Given the description of an element on the screen output the (x, y) to click on. 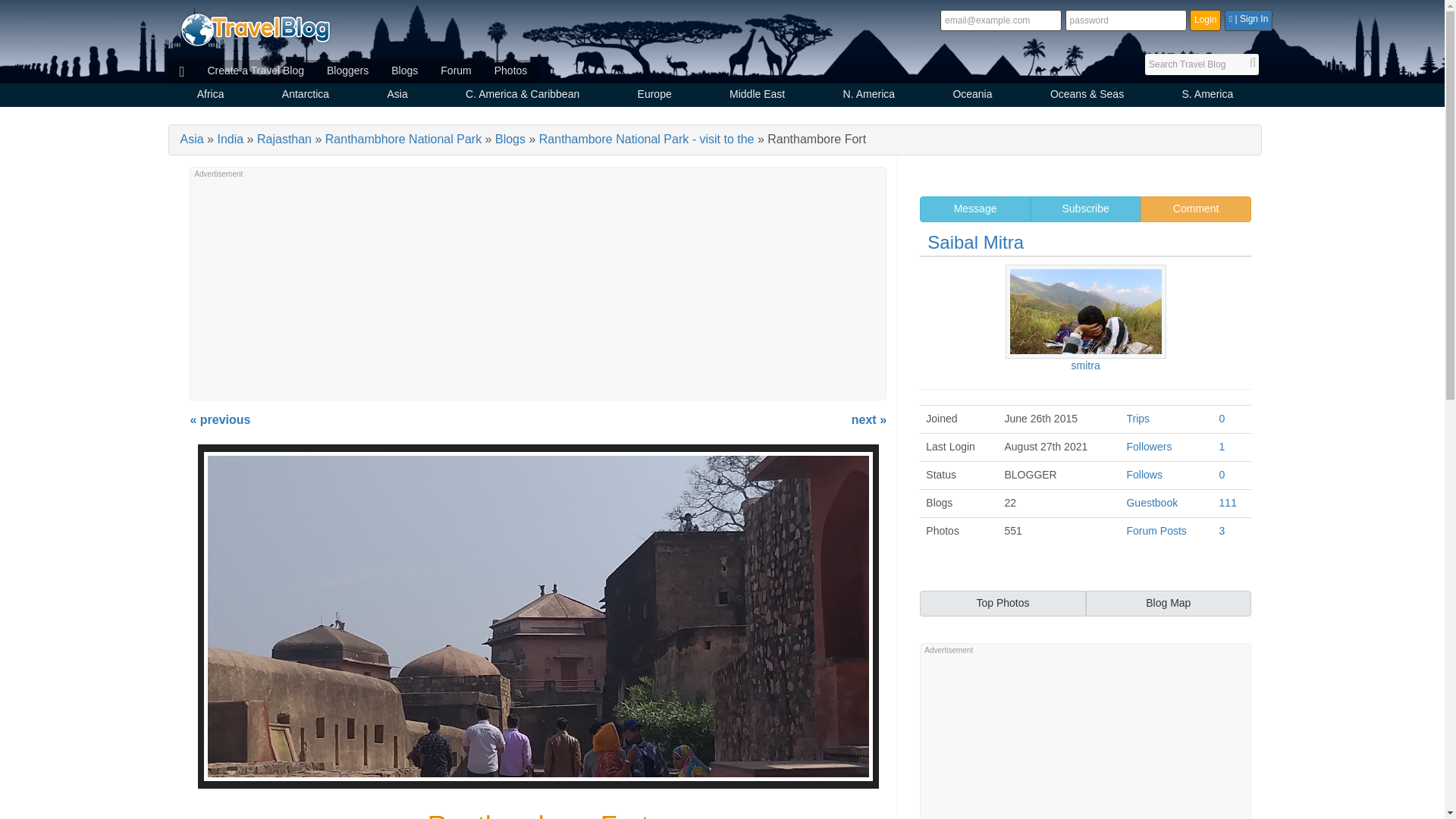
Middle East (756, 95)
Antarctica (305, 95)
Photos (510, 71)
Blogs (404, 71)
Europe (654, 95)
Sign in with Facebook (1248, 20)
S. America (1207, 95)
Asia (397, 95)
Bloggers (347, 71)
Travel Blog (255, 29)
Forum (455, 71)
Africa (210, 95)
Oceania (972, 95)
Create a Travel Blog (255, 71)
